Given the description of an element on the screen output the (x, y) to click on. 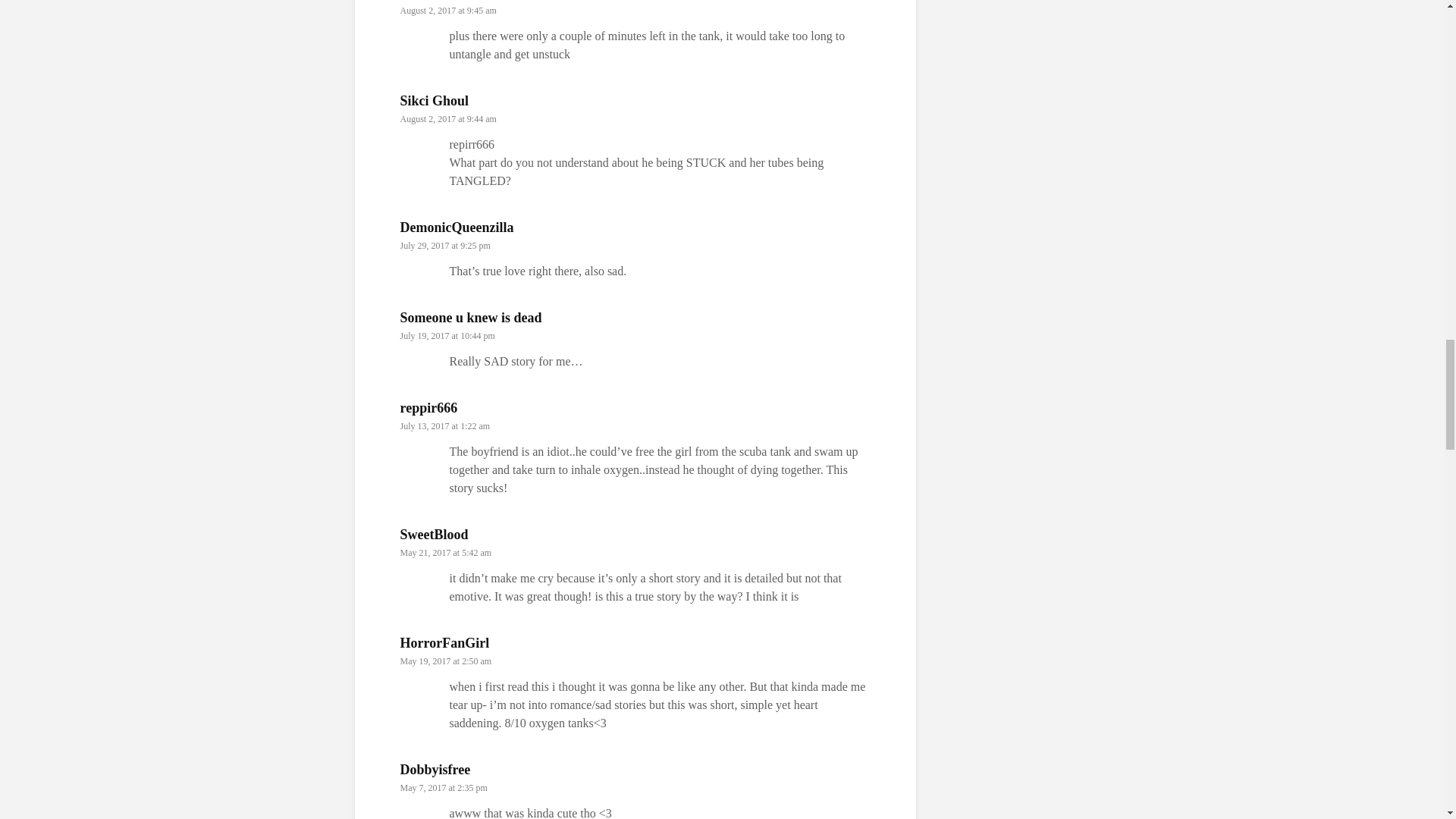
August 2, 2017 at 9:44 am (448, 118)
August 2, 2017 at 9:45 am (448, 9)
May 7, 2017 at 2:35 pm (443, 787)
May 19, 2017 at 2:50 am (446, 661)
July 29, 2017 at 9:25 pm (445, 245)
July 19, 2017 at 10:44 pm (447, 335)
May 21, 2017 at 5:42 am (446, 552)
July 13, 2017 at 1:22 am (445, 425)
